Given the description of an element on the screen output the (x, y) to click on. 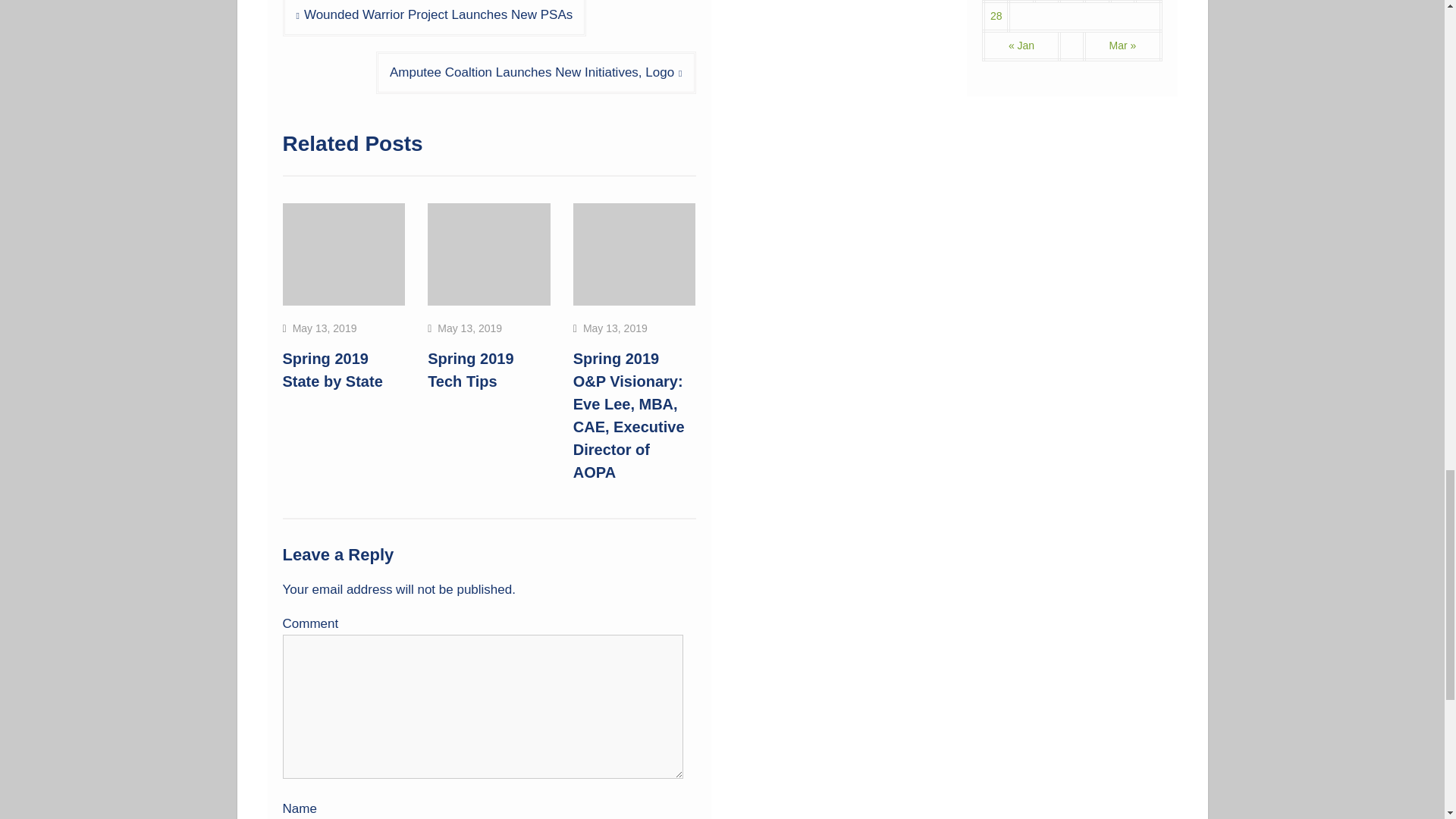
Spring 2019 Tech Tips (470, 369)
Spring 2019 State by State (331, 369)
Amputee Coaltion Launches New Initiatives, Logo (535, 72)
Wounded Warrior Project Launches New PSAs (434, 18)
